Given the description of an element on the screen output the (x, y) to click on. 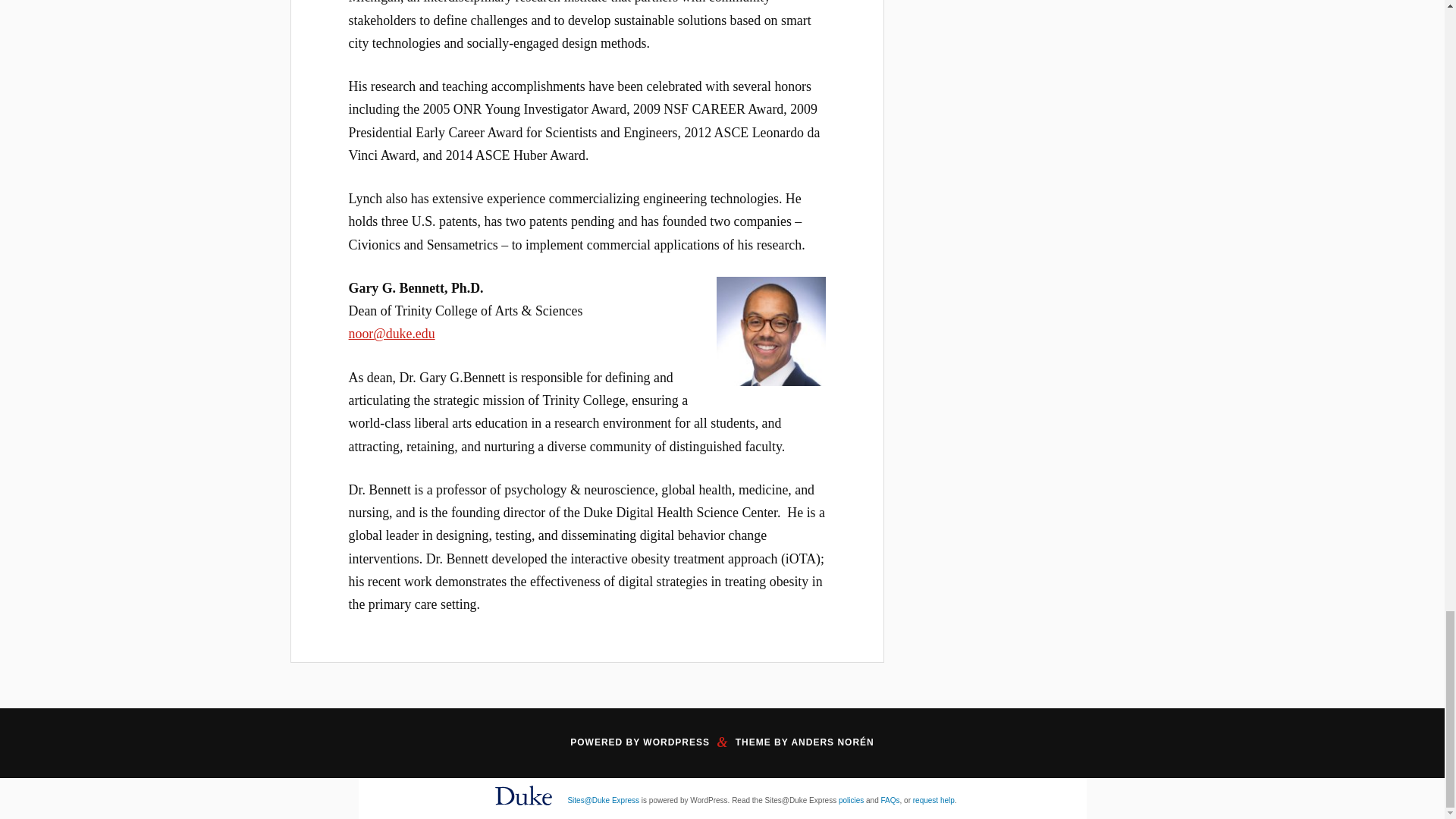
Visit Duke.edu (523, 808)
